Given the description of an element on the screen output the (x, y) to click on. 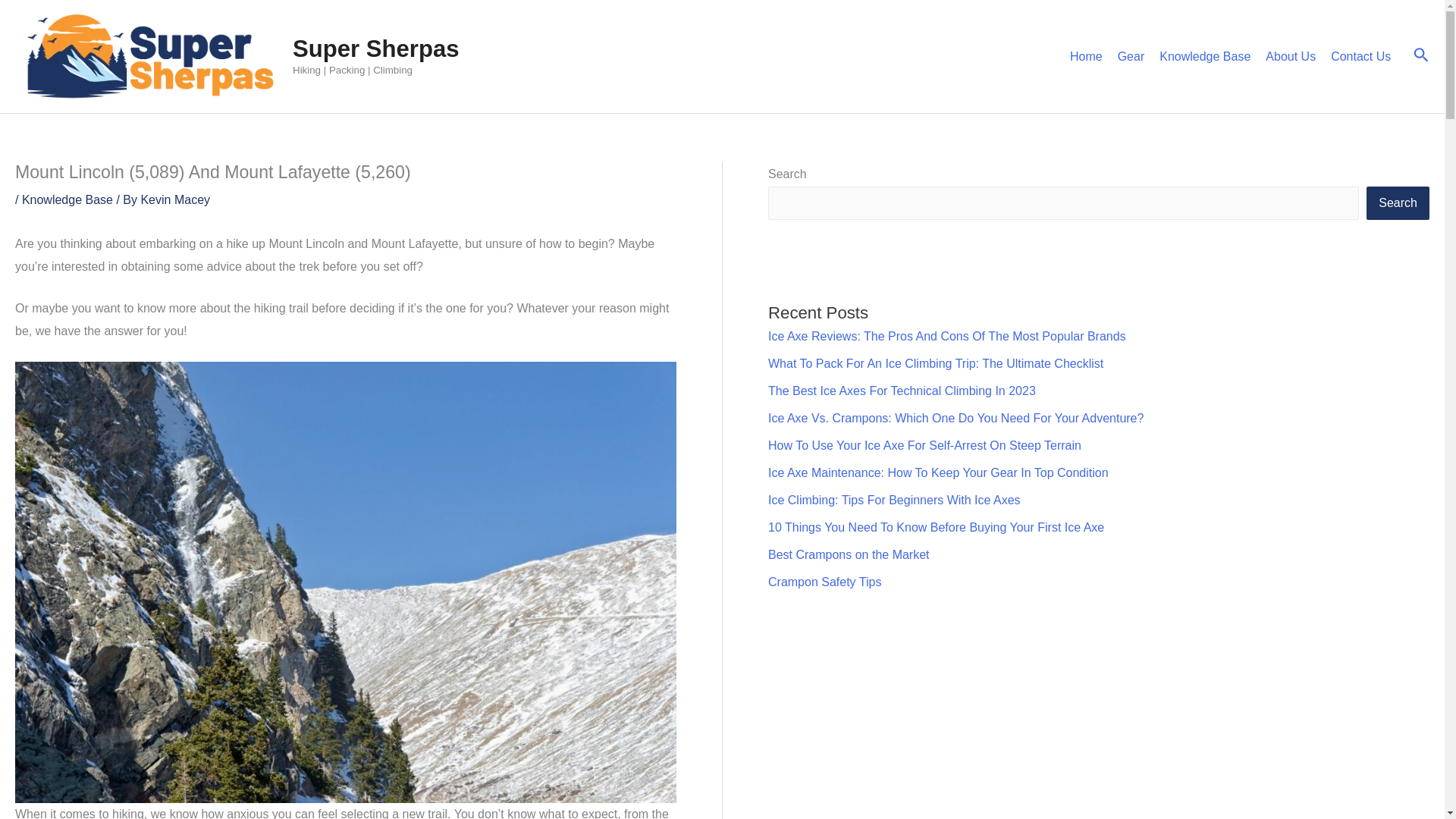
Knowledge Base (1204, 56)
Knowledge Base (67, 199)
Super Sherpas (376, 49)
View all posts by Kevin Macey (174, 199)
About Us (1290, 56)
Contact Us (1360, 56)
Kevin Macey (174, 199)
